Given the description of an element on the screen output the (x, y) to click on. 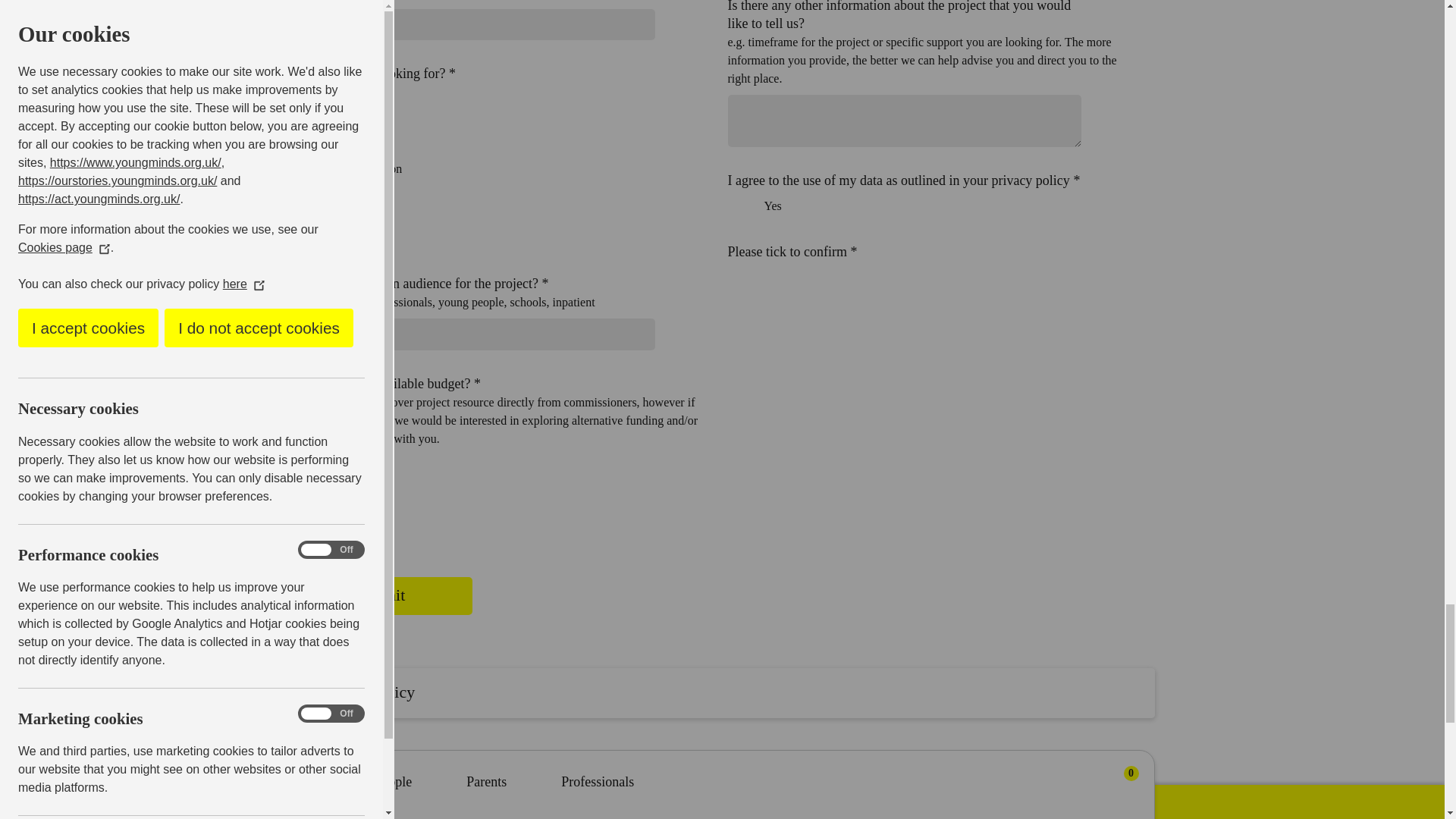
Not sure (304, 533)
Not sure (304, 236)
Insights (304, 134)
Yes (731, 205)
Training (304, 100)
Consultation (304, 168)
No (304, 499)
Submit (380, 596)
Resources (304, 203)
Yes (304, 465)
